Given the description of an element on the screen output the (x, y) to click on. 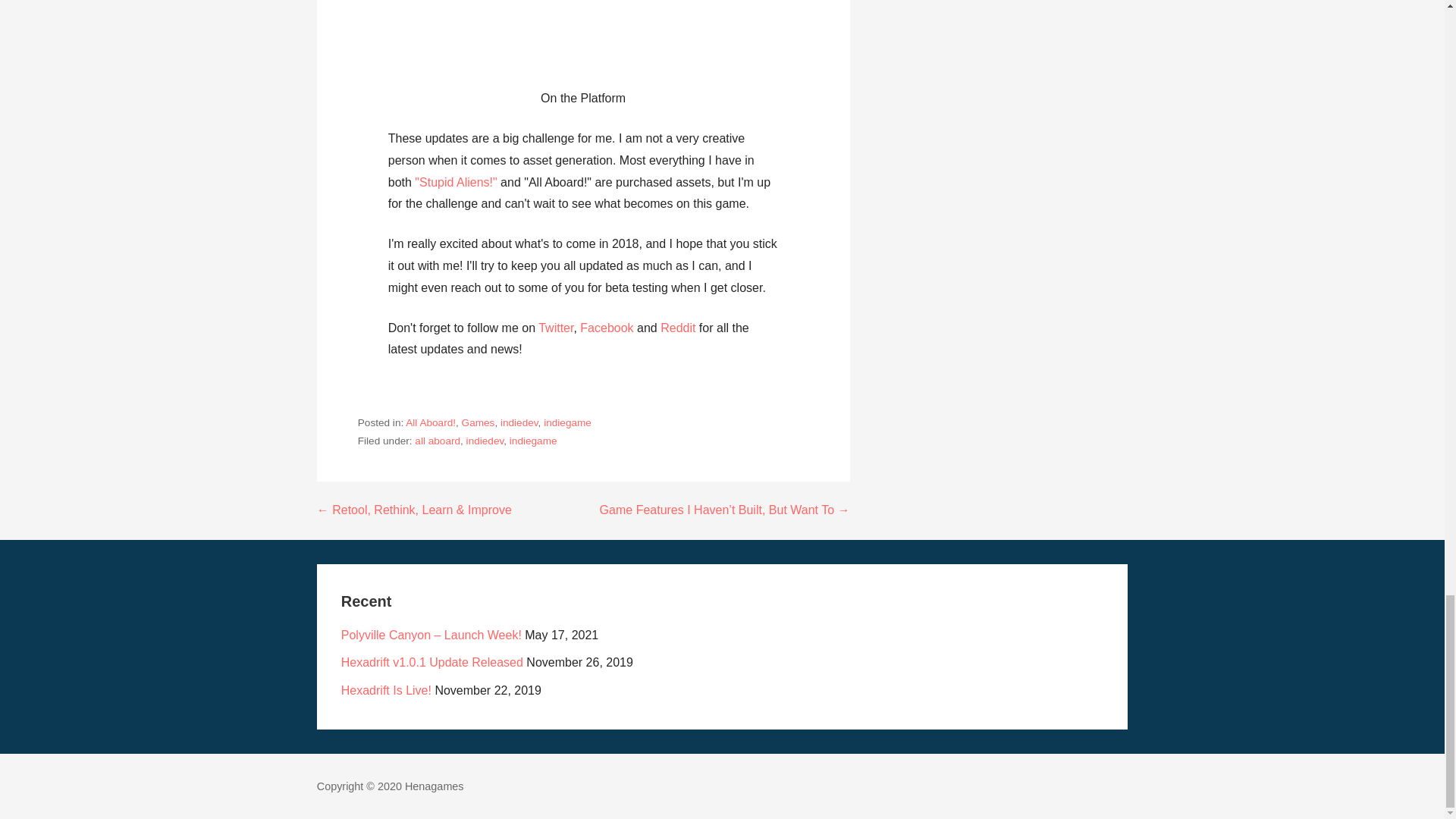
Twitter (555, 327)
all aboard (437, 440)
indiedev (519, 422)
"Stupid Aliens!" (455, 182)
All Aboard! (430, 422)
Hexadrift v1.0.1 Update Released (431, 662)
indiedev (484, 440)
Reddit (678, 327)
Games (478, 422)
indiegame (533, 440)
indiegame (567, 422)
Facebook (606, 327)
Hexadrift Is Live! (385, 689)
